Given the description of an element on the screen output the (x, y) to click on. 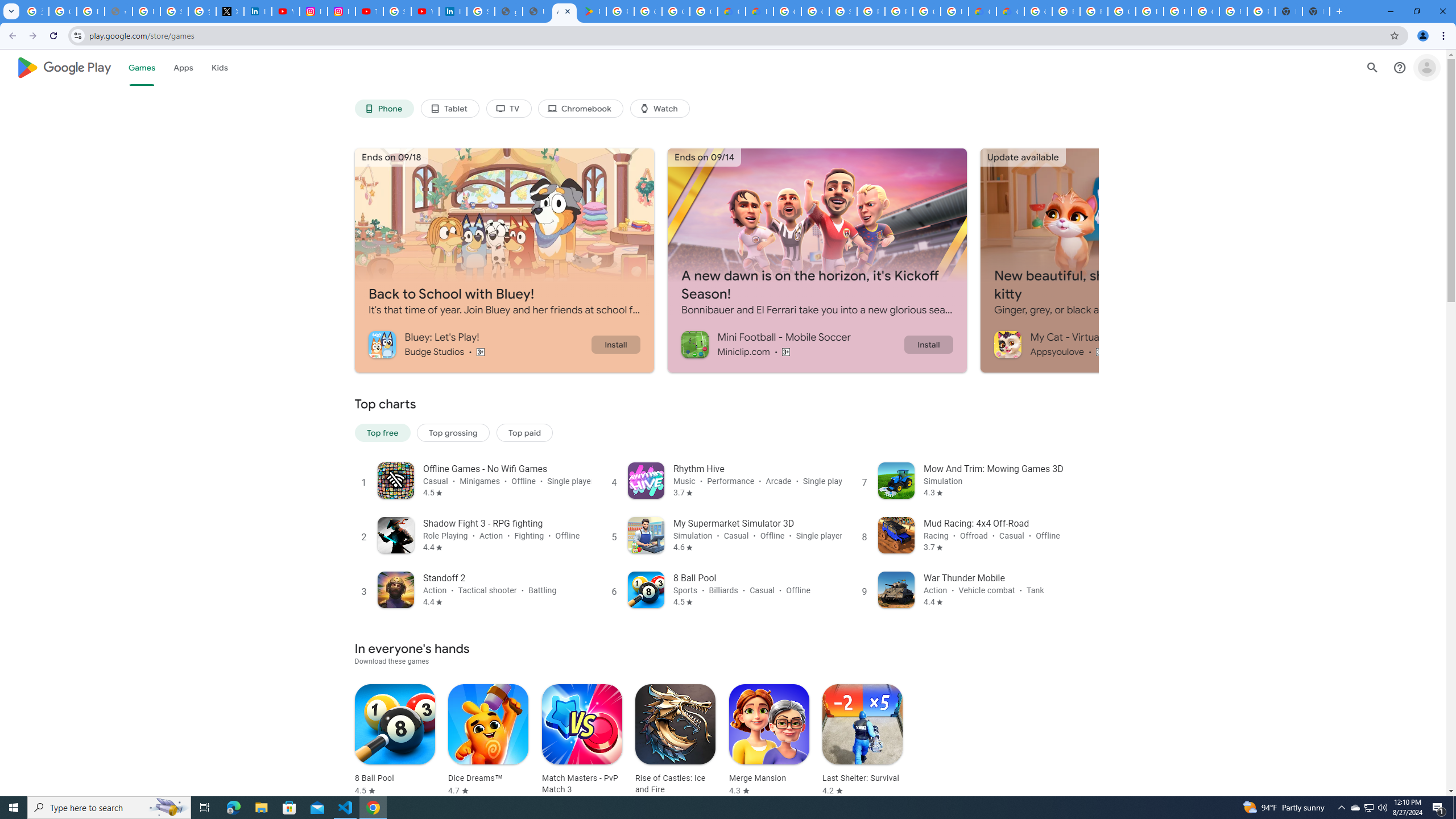
Tablet (449, 108)
Top paid (524, 432)
support.google.com - Network error (118, 11)
Chromebook (581, 108)
